Given the description of an element on the screen output the (x, y) to click on. 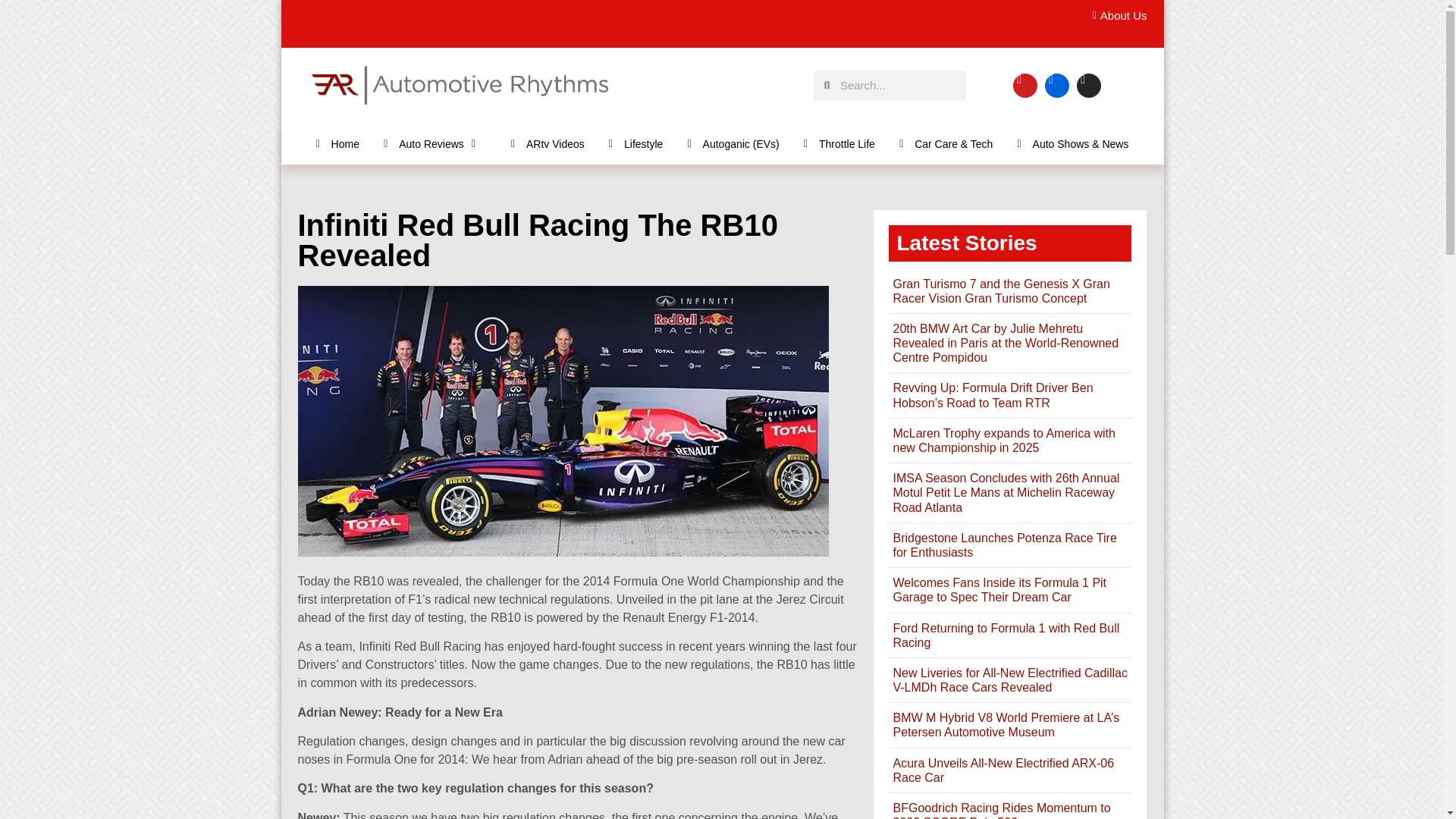
About Us (1115, 16)
Auto Reviews (435, 142)
Home (336, 142)
Bridgestone Launches Potenza Race Tire for Enthusiasts (1004, 544)
BFGoodrich Racing Rides Momentum to 2022 SCORE Baja 500 (1000, 810)
Ford Returning to Formula 1 with Red Bull Racing (1005, 635)
ARtv Videos (547, 142)
Acura Unveils All-New Electrified ARX-06 Race Car (1002, 769)
Lifestyle (635, 142)
